Given the description of an element on the screen output the (x, y) to click on. 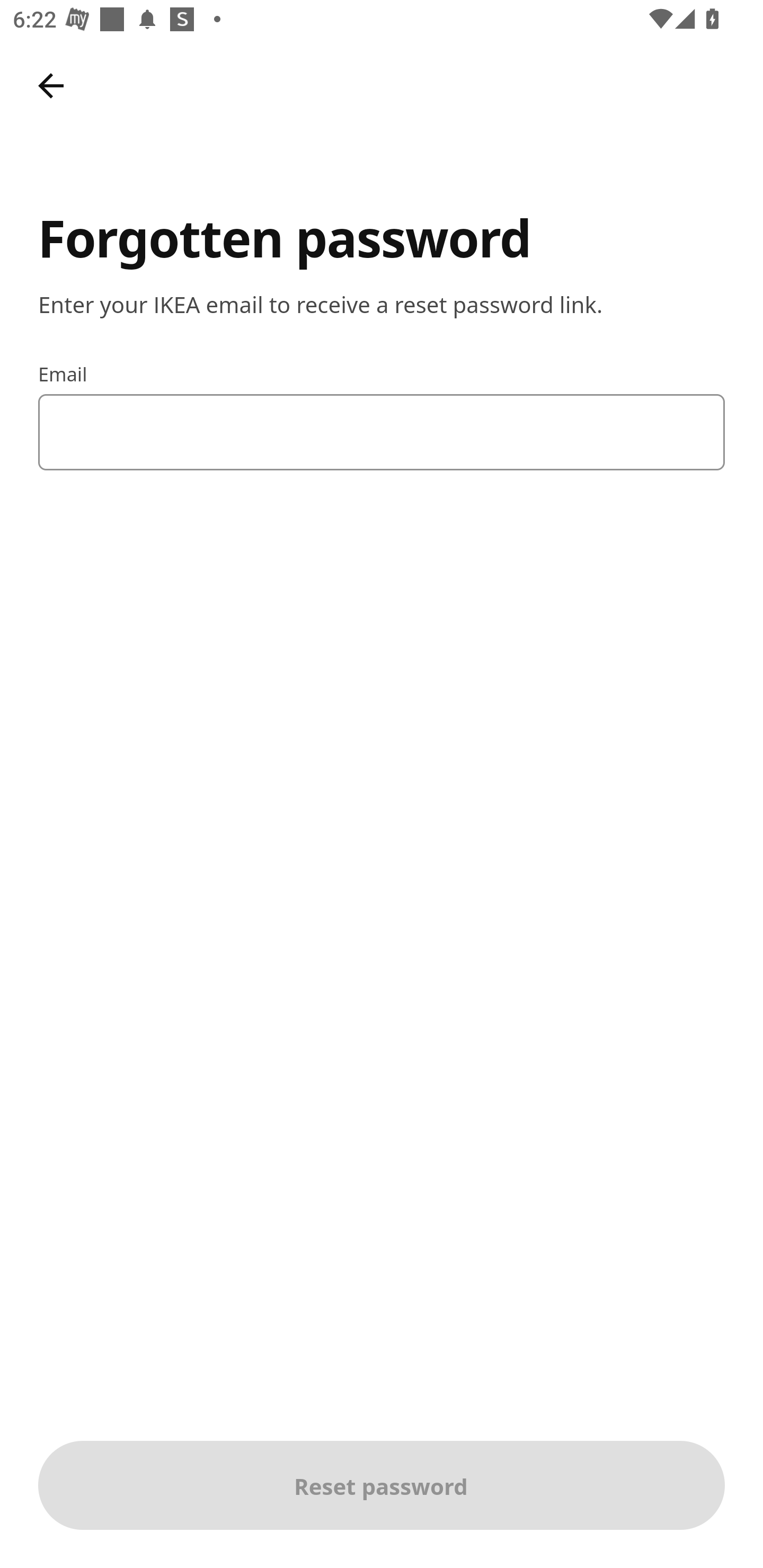
Reset password (381, 1485)
